Given the description of an element on the screen output the (x, y) to click on. 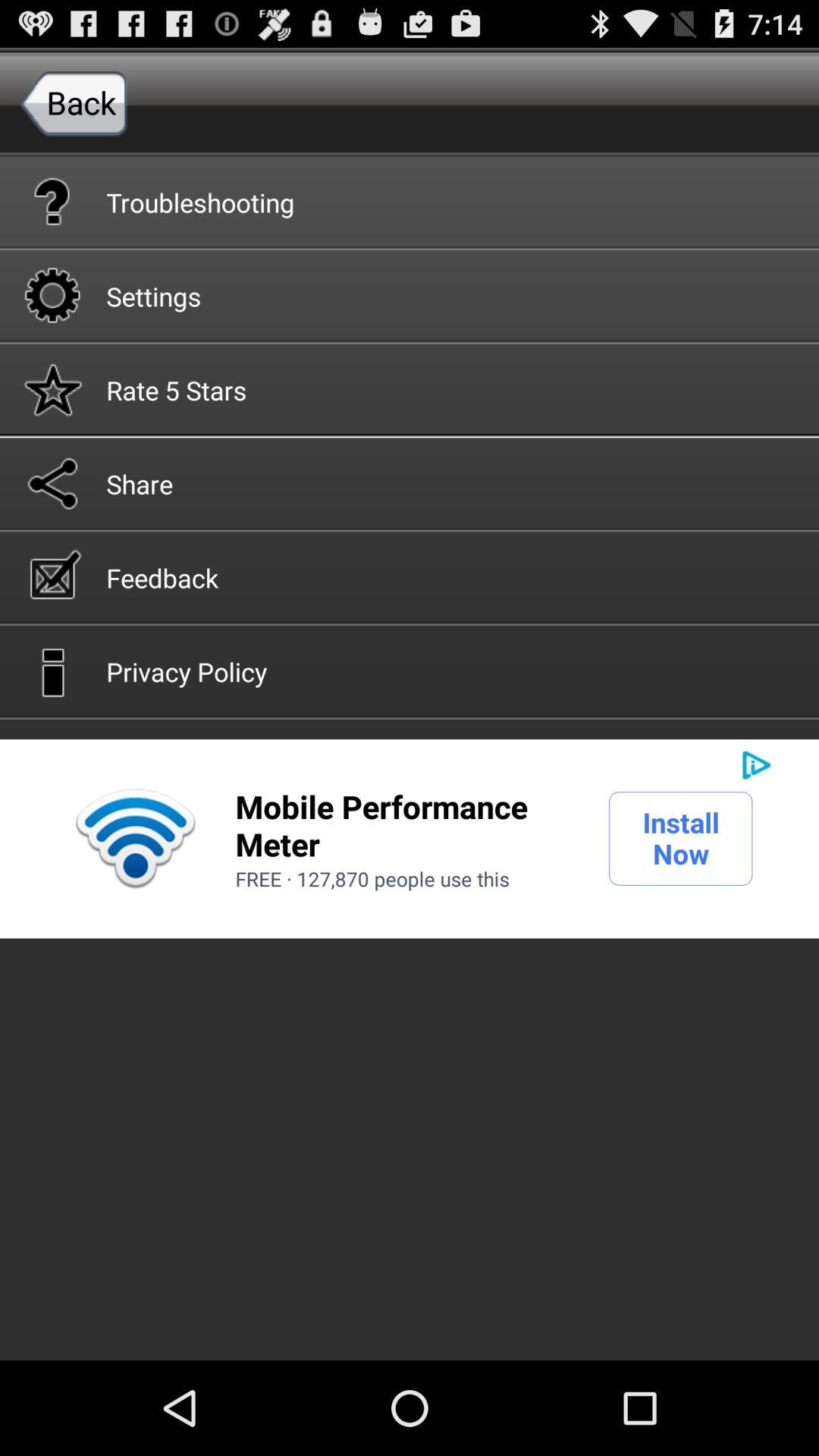
choose settings icon (409, 295)
